Given the description of an element on the screen output the (x, y) to click on. 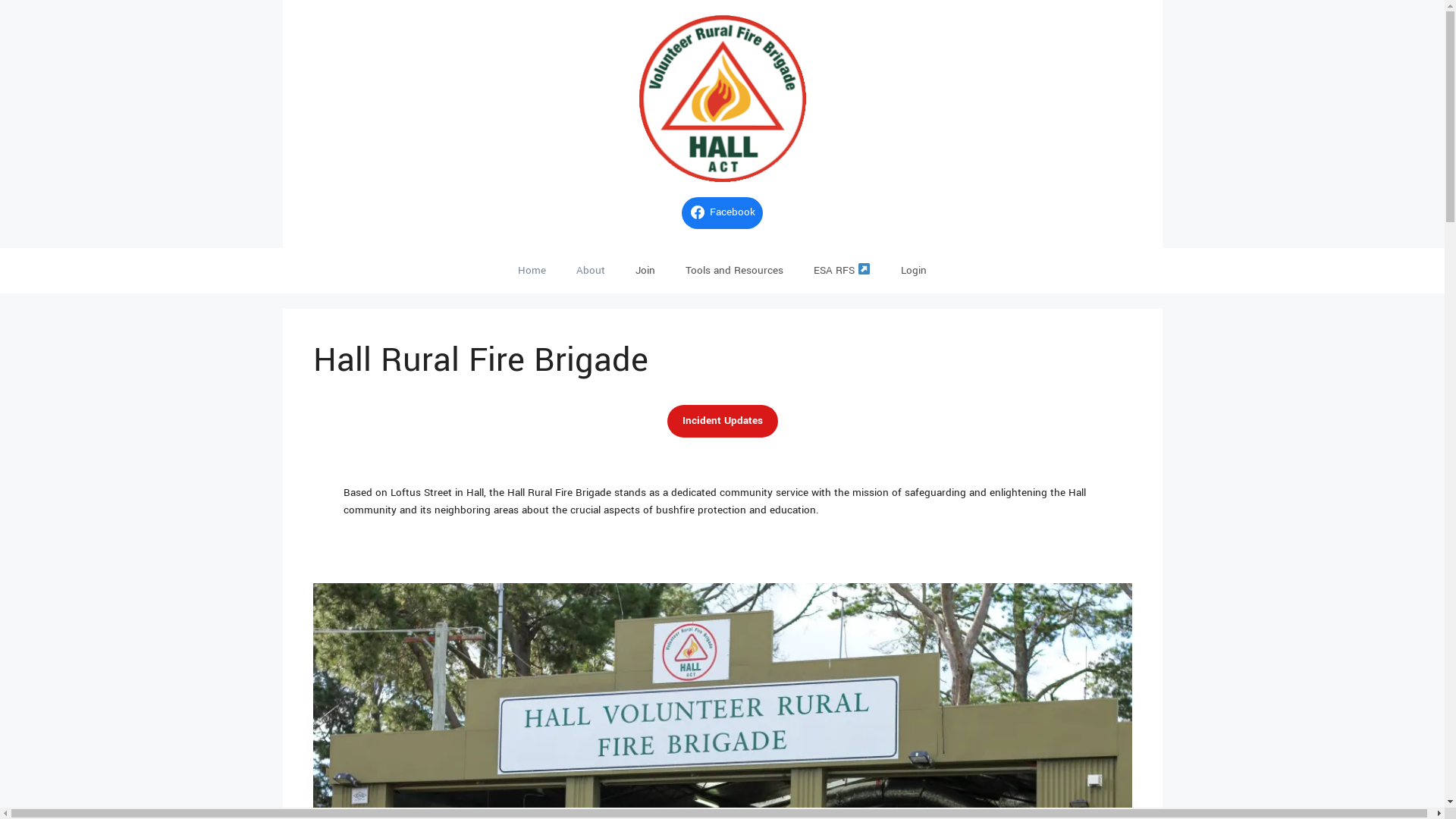
Facebook Element type: text (721, 213)
ESA RFS Element type: text (841, 270)
Join Element type: text (645, 270)
Login Element type: text (913, 270)
Tools and Resources Element type: text (734, 270)
Home Element type: text (531, 270)
Incident Updates Element type: text (722, 420)
About Element type: text (590, 270)
